Given the description of an element on the screen output the (x, y) to click on. 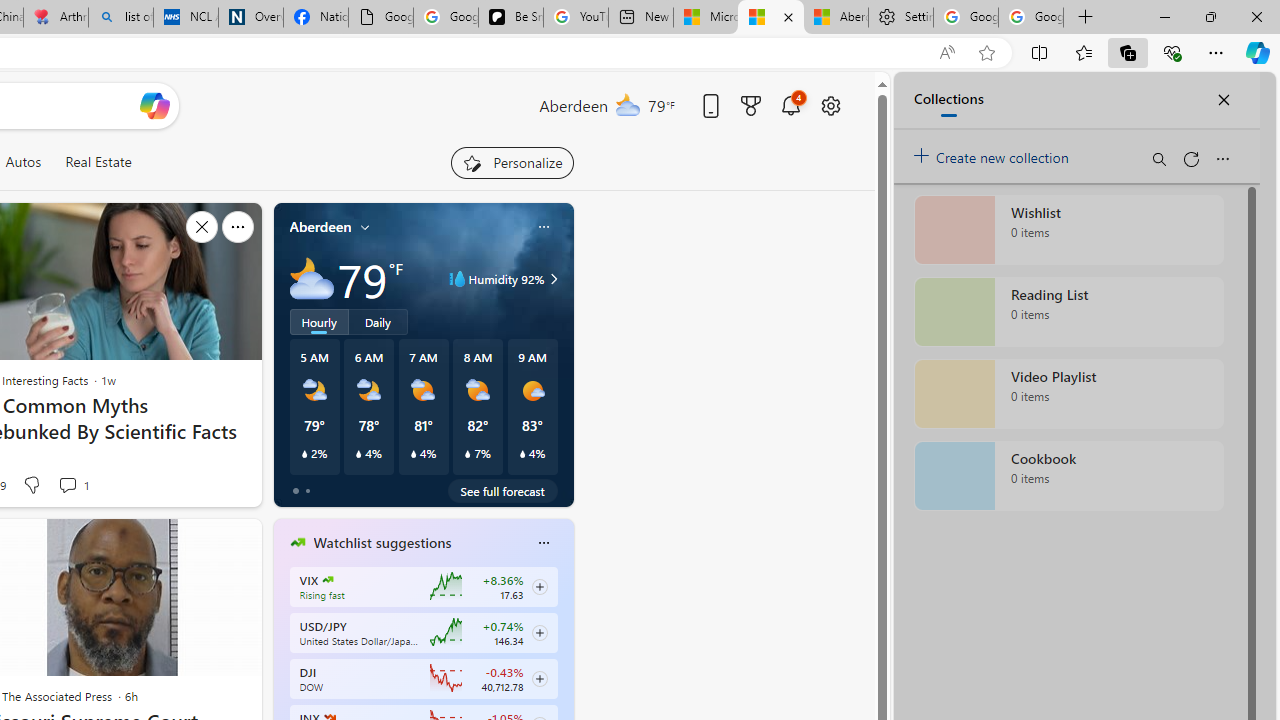
Class: follow-button  m (539, 678)
Mostly cloudy (311, 278)
Class: weather-arrow-glyph (554, 278)
Humidity 92% (551, 278)
Hide this story (201, 542)
